Given the description of an element on the screen output the (x, y) to click on. 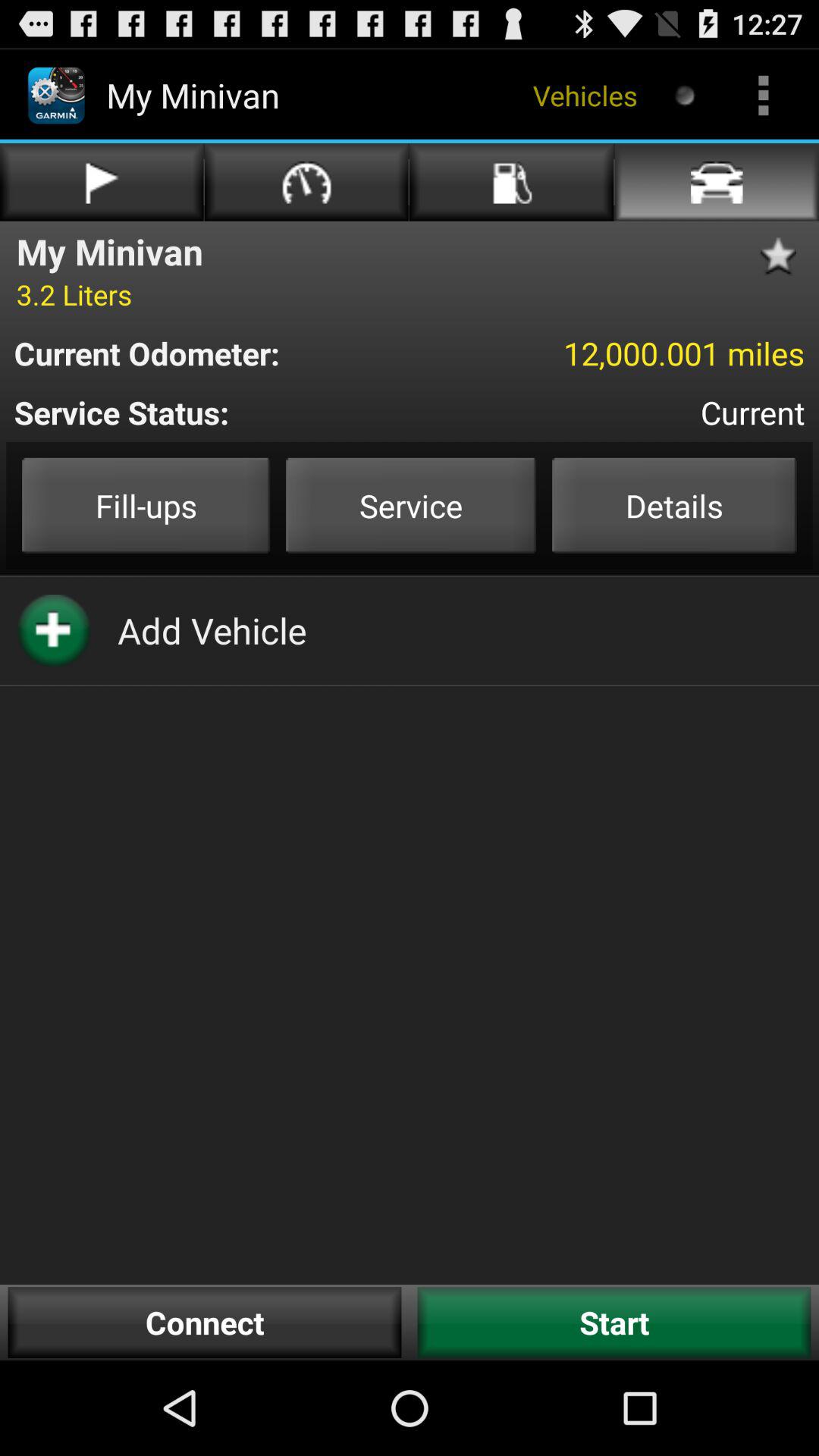
jump until 12 000 001 (612, 352)
